Given the description of an element on the screen output the (x, y) to click on. 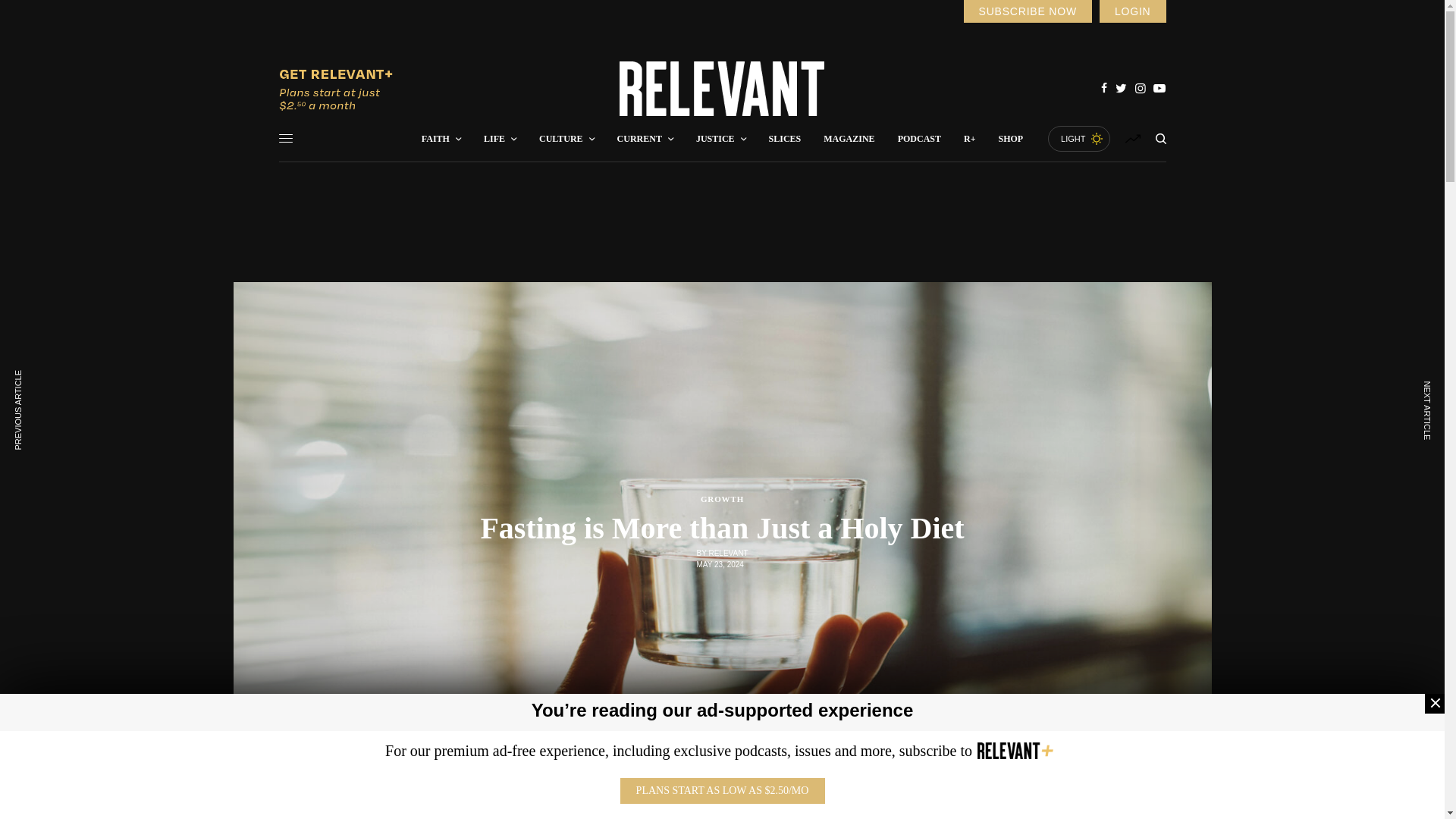
SUBSCRIBE NOW (1026, 11)
RELEVANT (722, 88)
LOGIN (1132, 11)
